Given the description of an element on the screen output the (x, y) to click on. 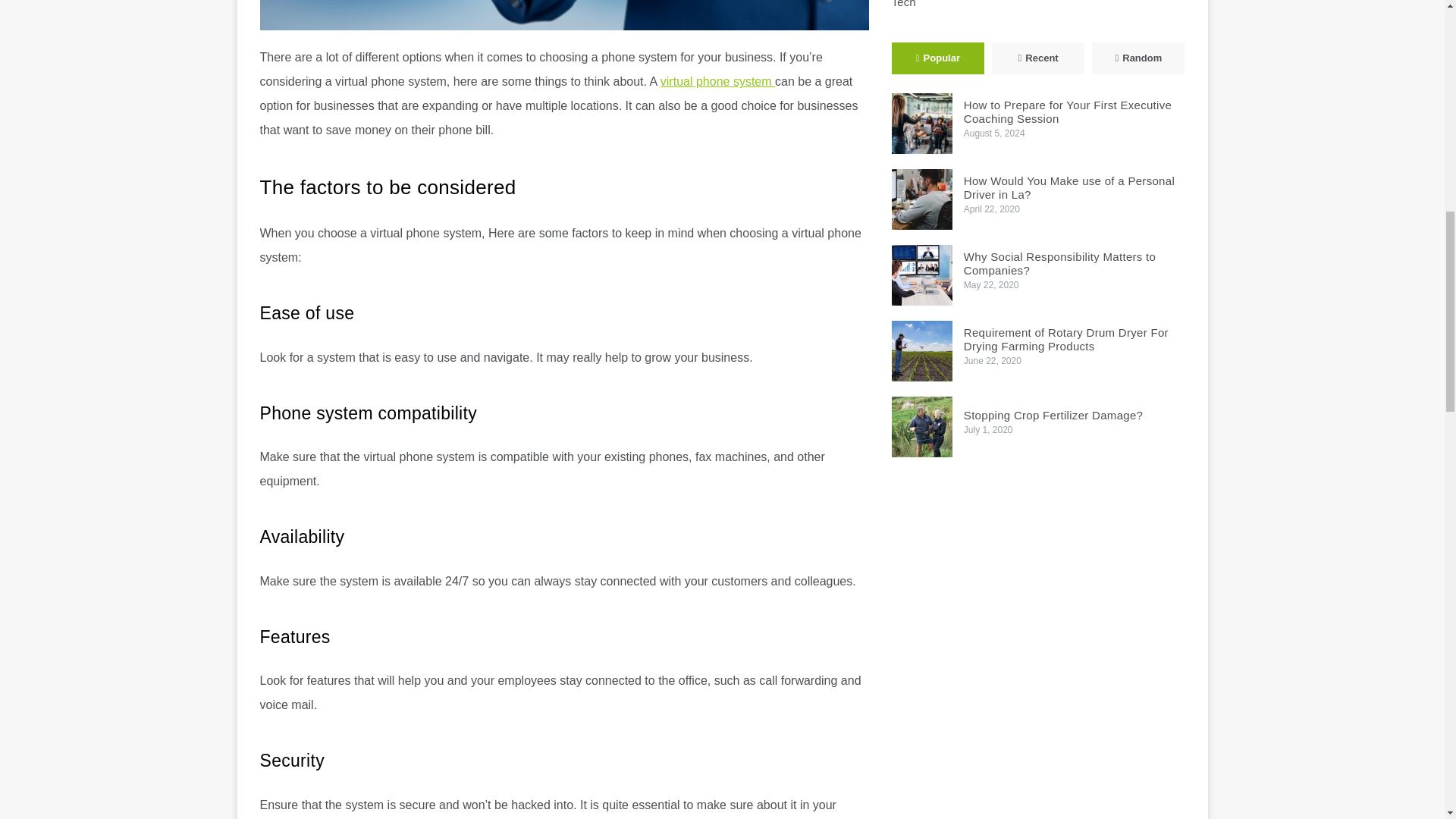
virtual phone system (717, 81)
